Given the description of an element on the screen output the (x, y) to click on. 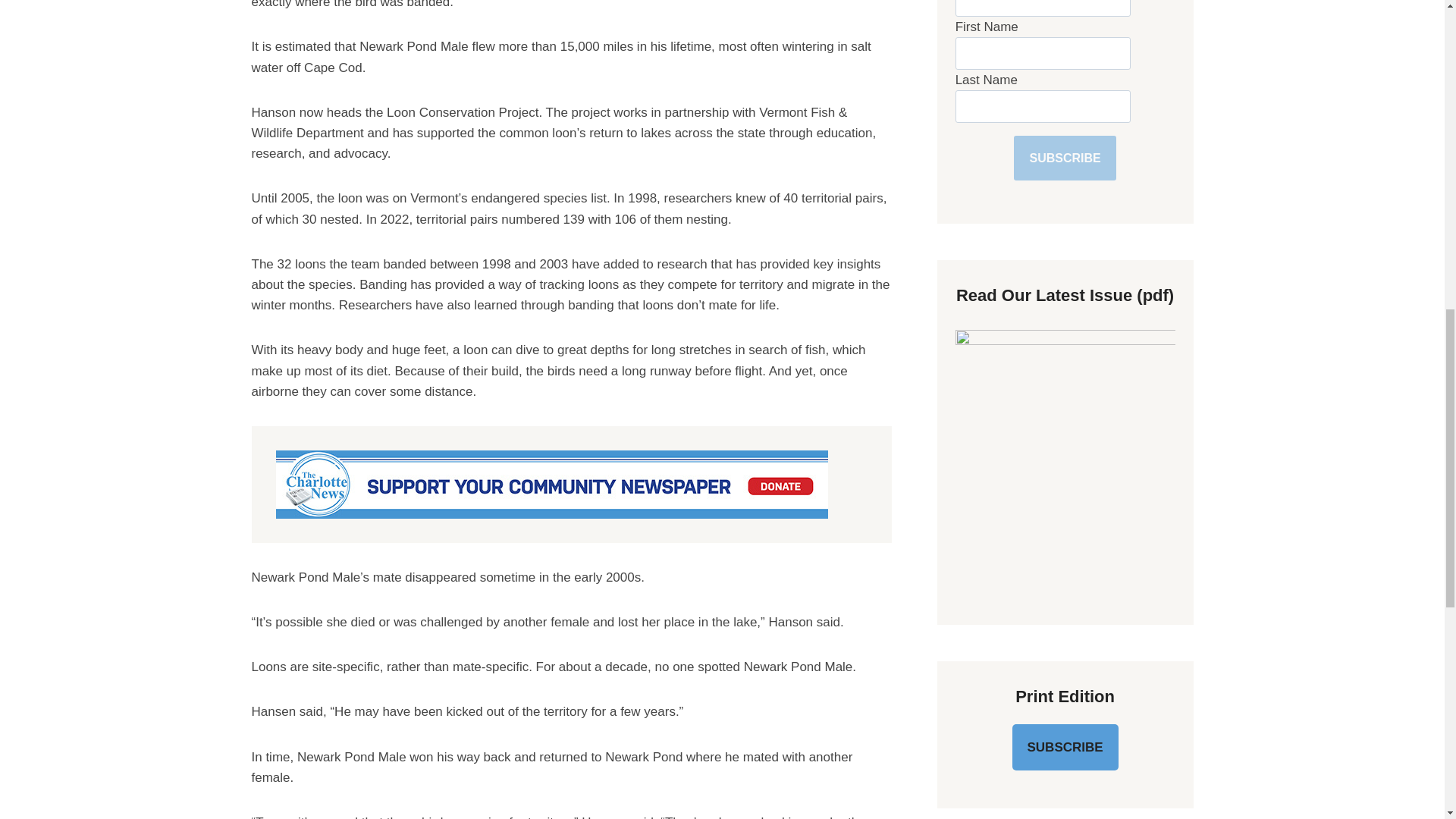
Subscribe (1064, 157)
